Given the description of an element on the screen output the (x, y) to click on. 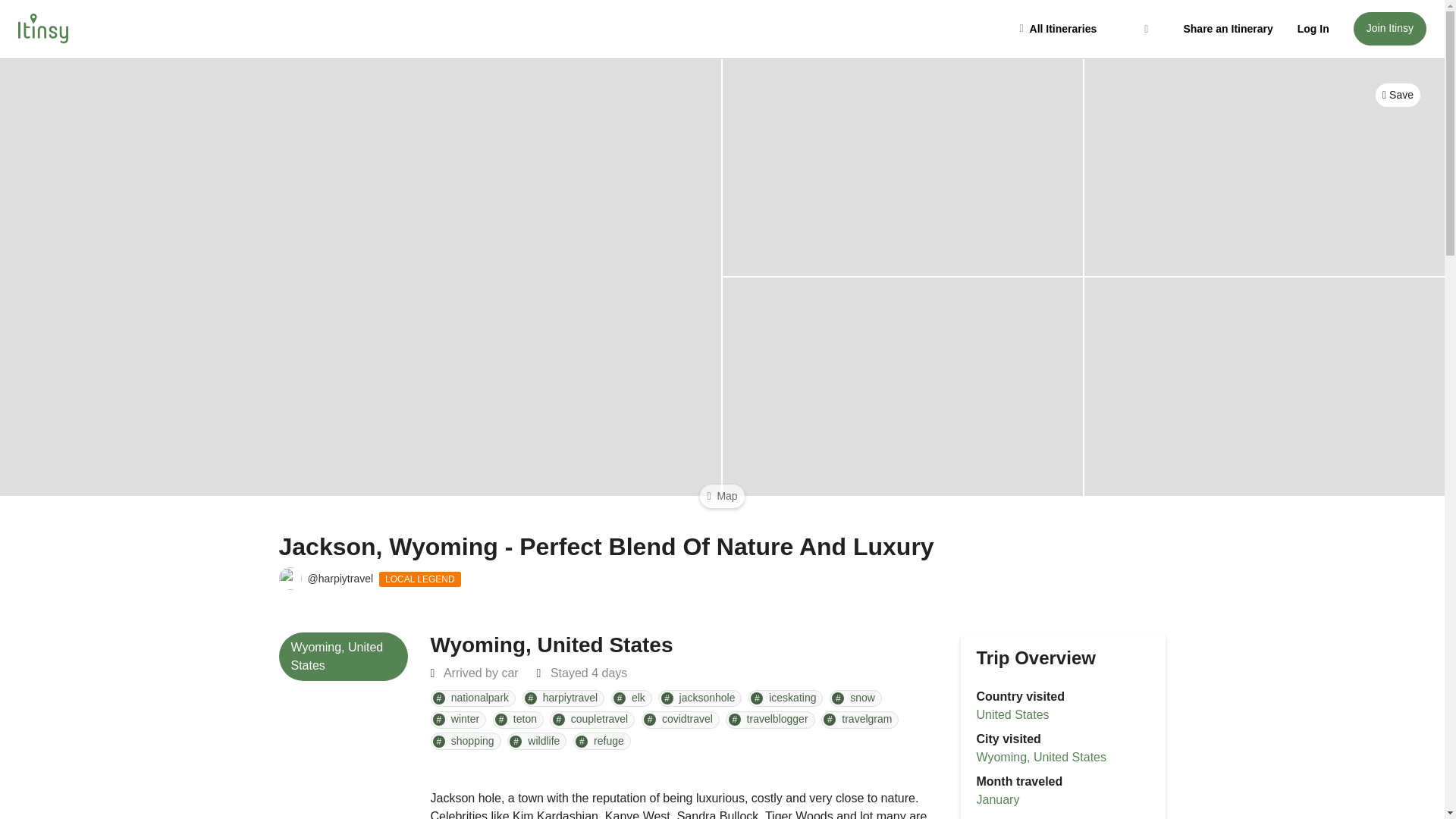
All Itineraries (1085, 28)
Log In (1312, 28)
Map (722, 495)
Join Itinsy (1390, 28)
Wyoming, United States (901, 386)
Wyoming, United States (343, 656)
Wyoming, United States (901, 167)
Share an Itinerary (1227, 28)
Save (1398, 95)
